Given the description of an element on the screen output the (x, y) to click on. 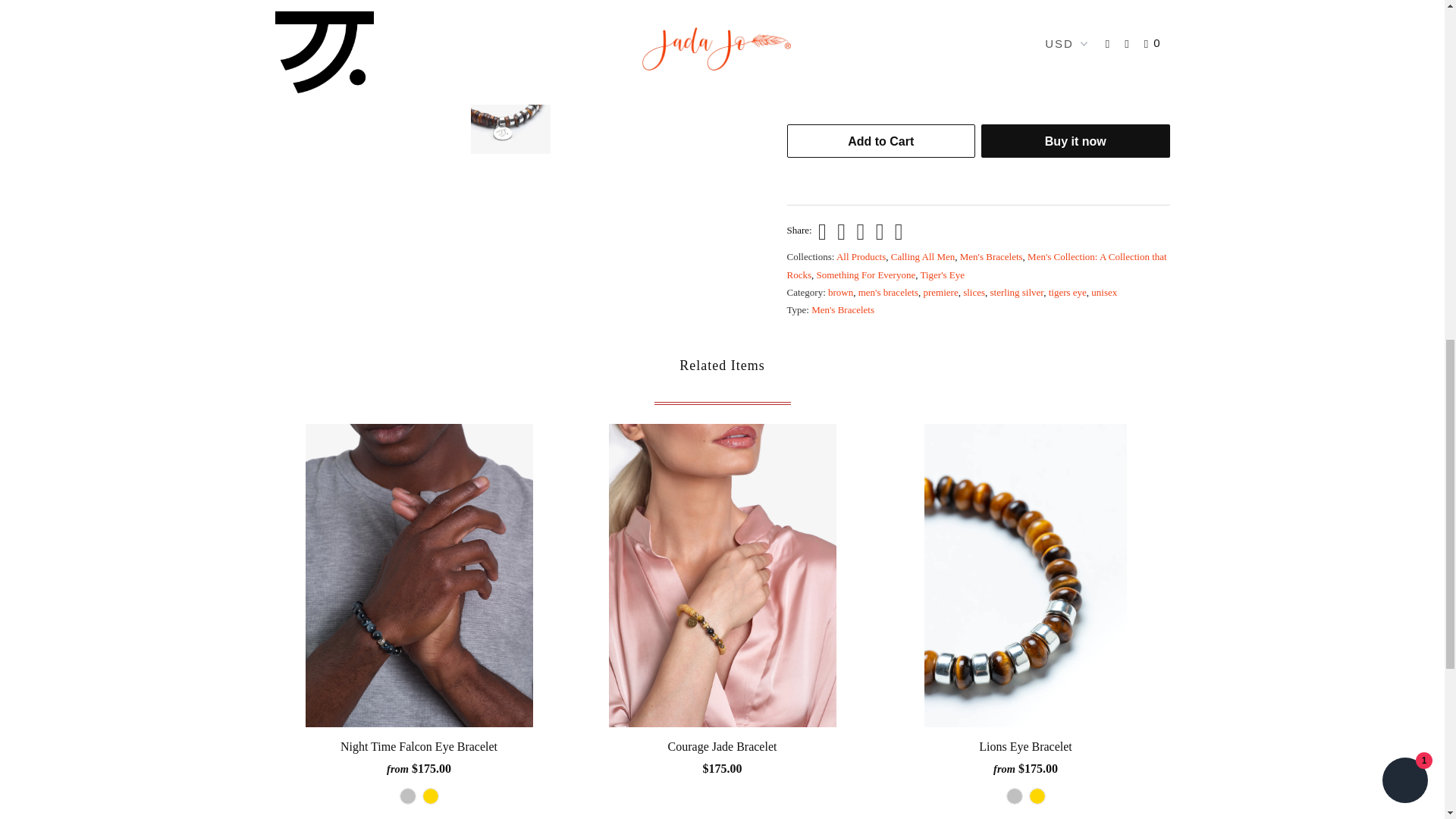
All Products (860, 256)
Men's Bracelets (991, 256)
Something For Everyone (865, 274)
Buy it now (1075, 141)
Calling All Men (923, 256)
premiere (940, 292)
Tiger's Eye (941, 274)
men's bracelets (888, 292)
Men's Collection: A Collection that Rocks (977, 265)
Add to Cart (881, 141)
brown (840, 292)
